Given the description of an element on the screen output the (x, y) to click on. 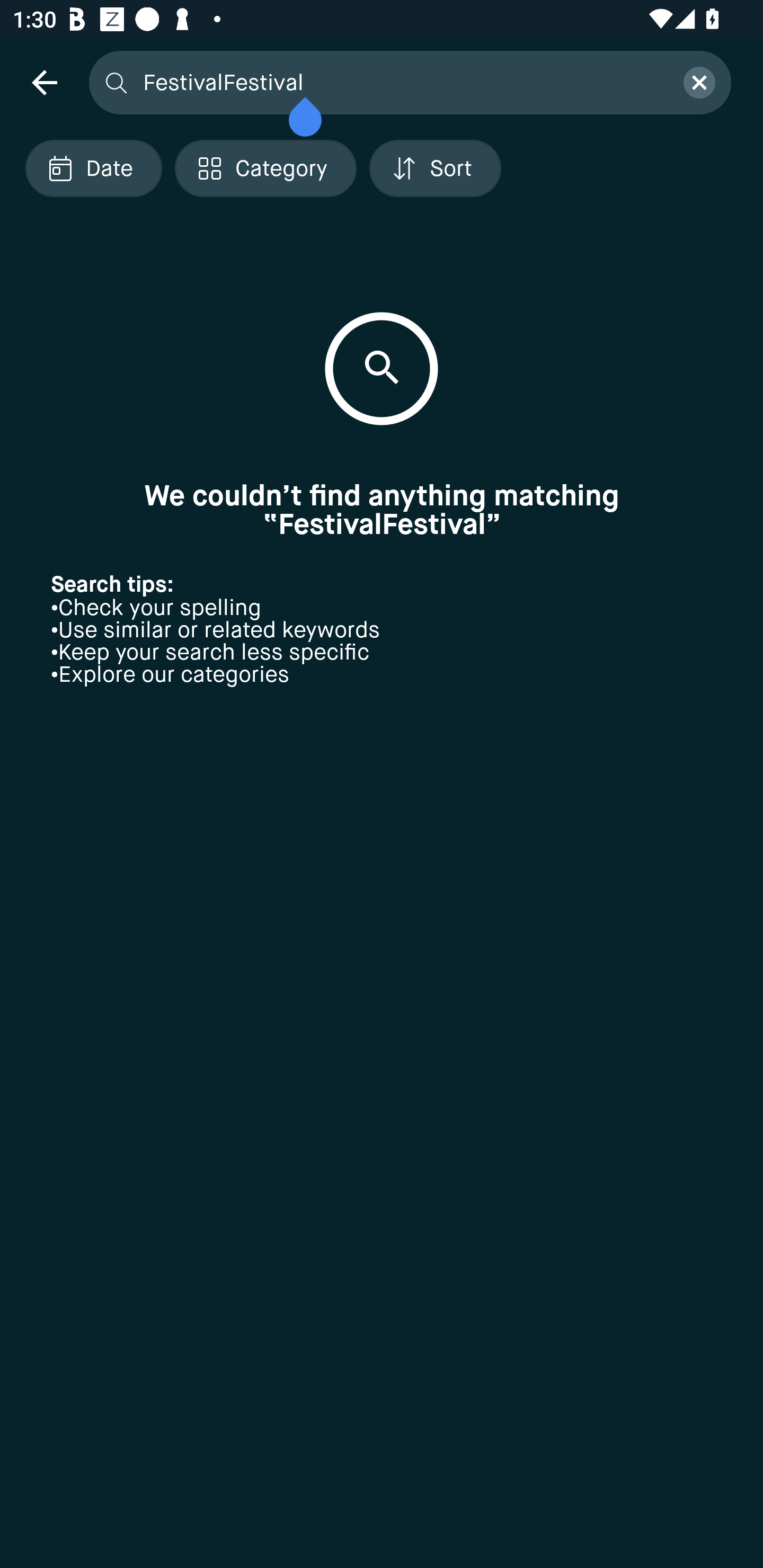
navigation icon (44, 81)
FestivalFestival (402, 81)
Localized description Date (93, 168)
Localized description Category (265, 168)
Localized description Sort (435, 168)
